Given the description of an element on the screen output the (x, y) to click on. 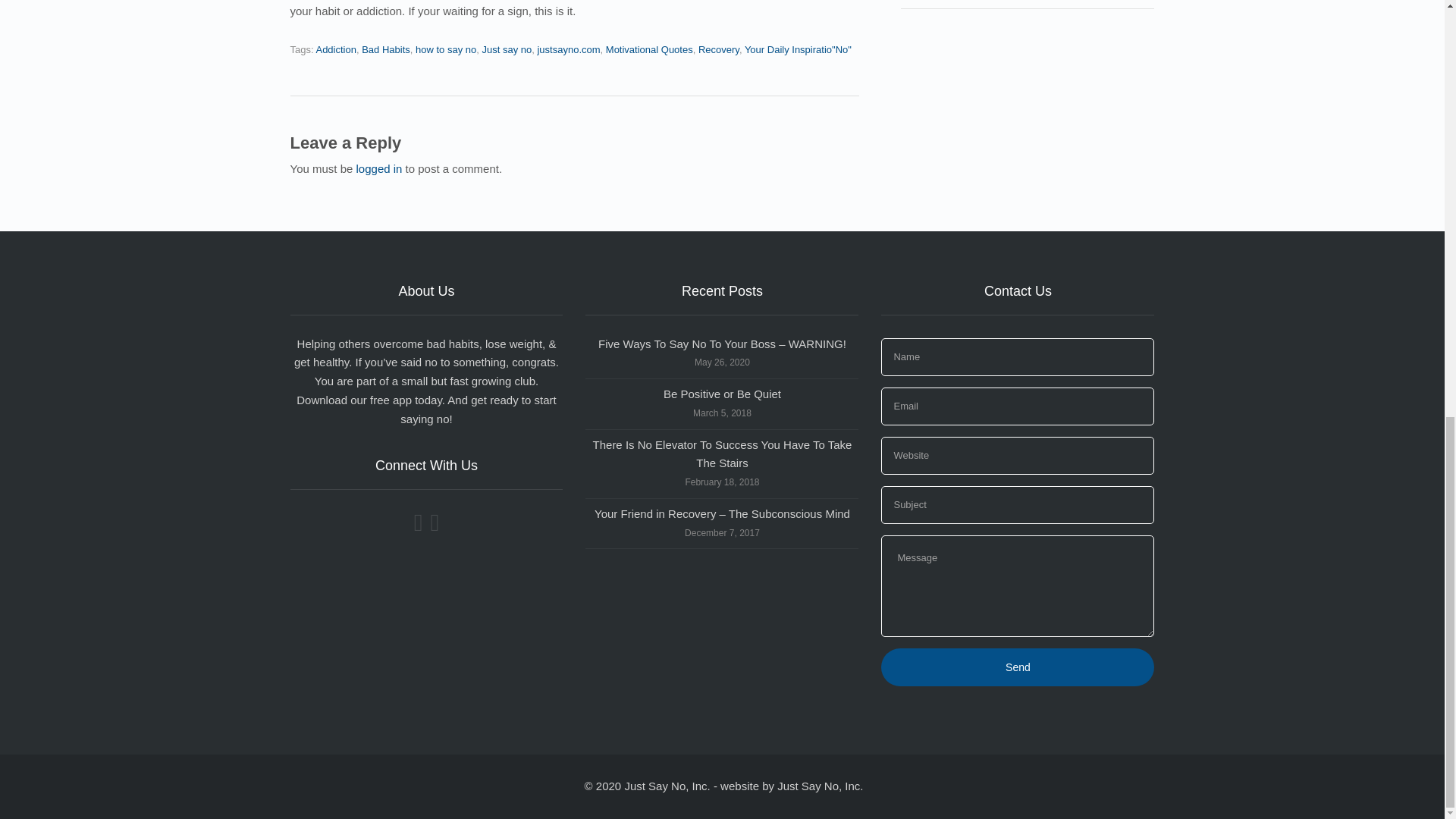
Send (1017, 667)
Bad Habits (385, 49)
Addiction (335, 49)
Your Daily Inspiratio"No" (797, 49)
Just say no (506, 49)
logged in (379, 168)
how to say no (445, 49)
Motivational Quotes (649, 49)
justsayno.com (568, 49)
Recovery (718, 49)
